Given the description of an element on the screen output the (x, y) to click on. 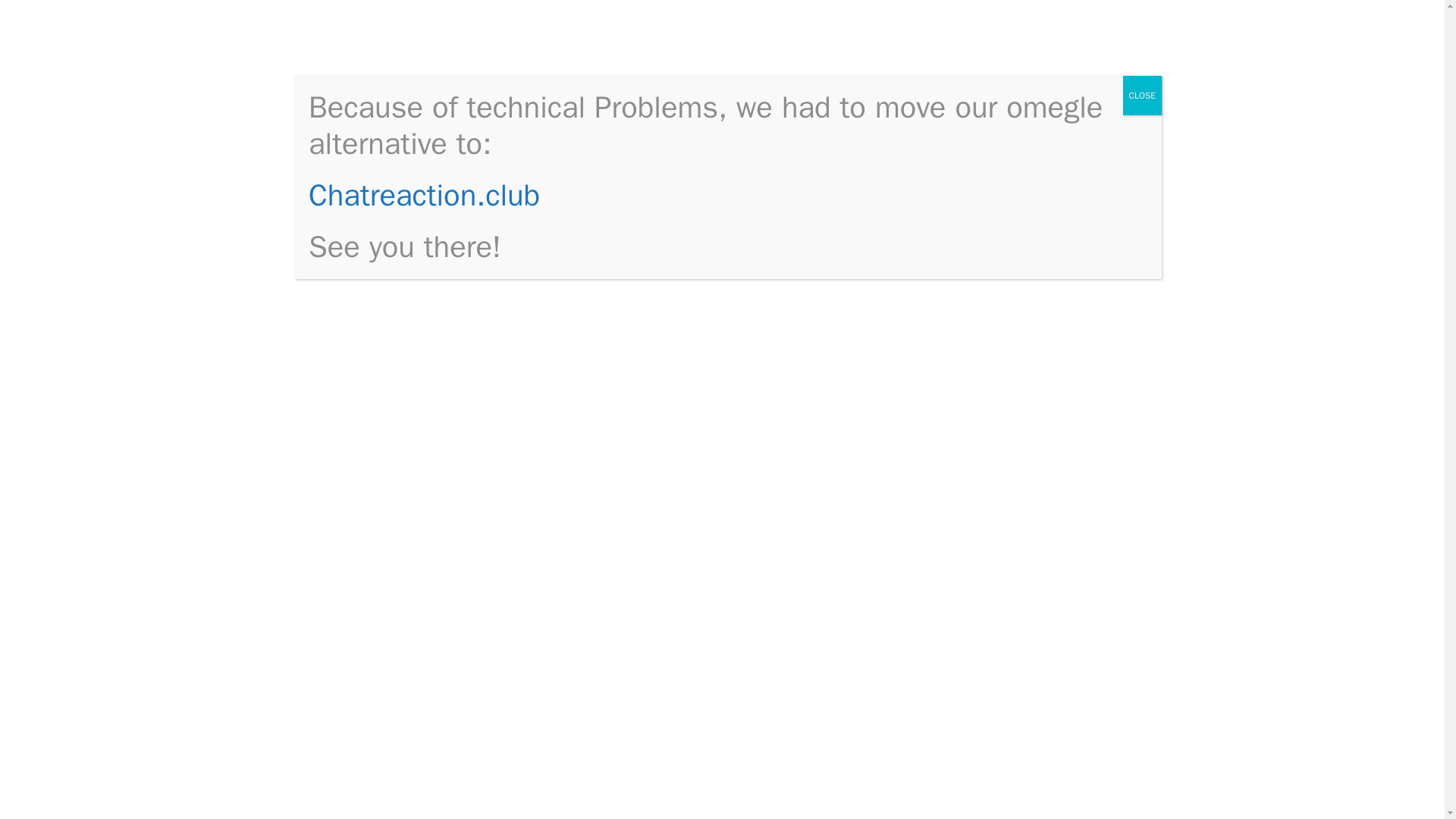
Free cam4cam (387, 44)
Post Comment (391, 606)
